Given the description of an element on the screen output the (x, y) to click on. 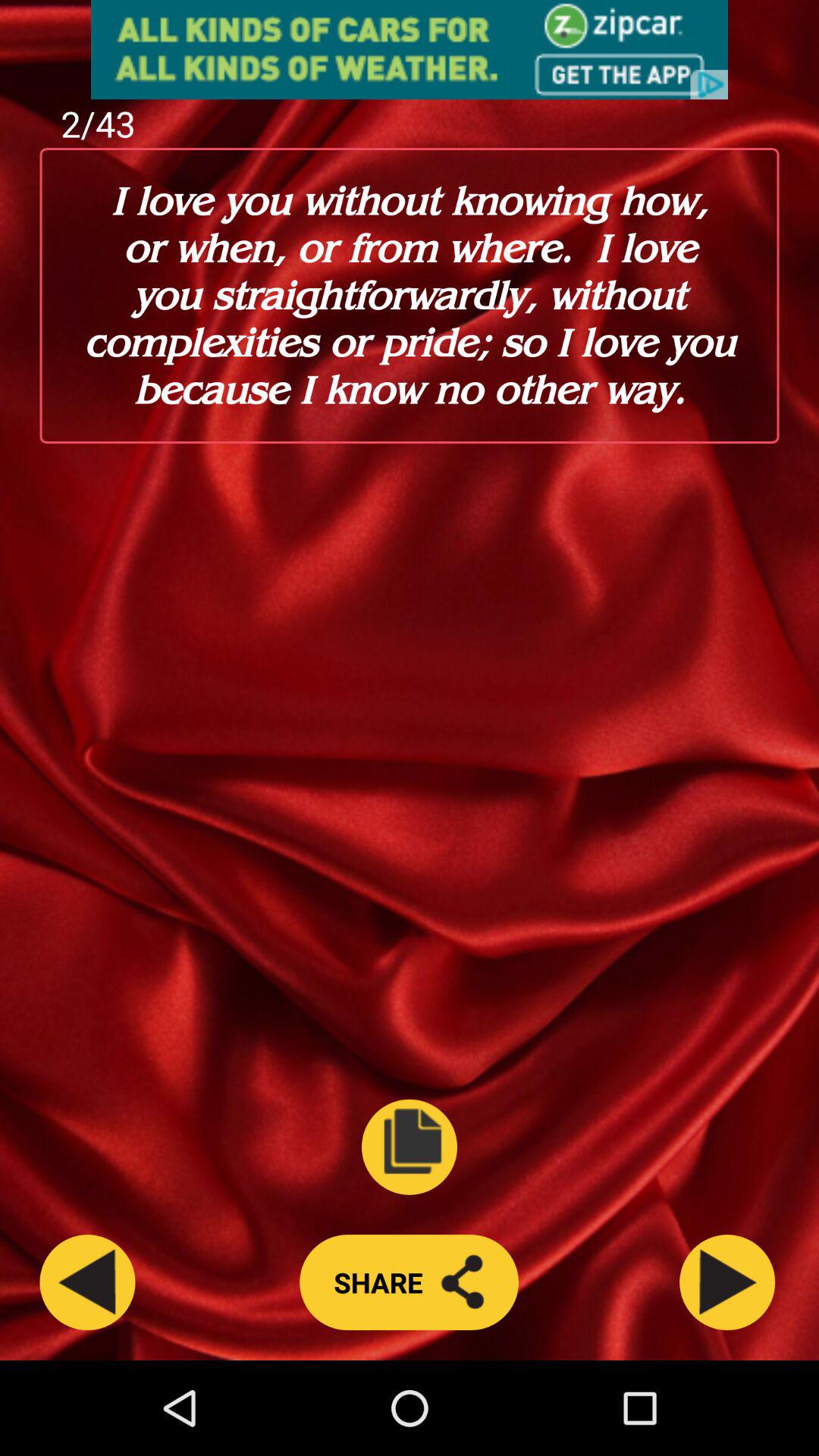
go to next (727, 1282)
